Given the description of an element on the screen output the (x, y) to click on. 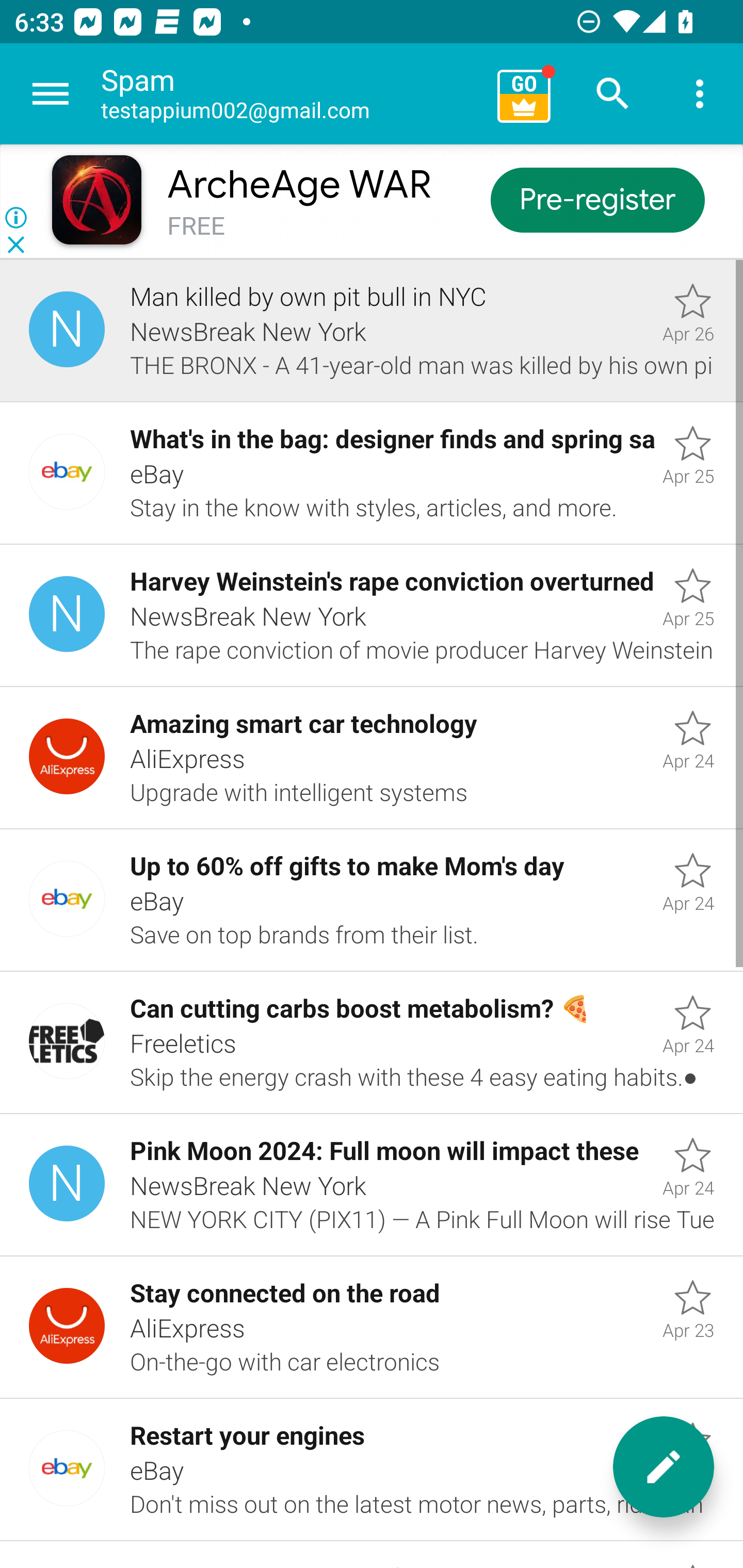
Navigate up (50, 93)
Spam testappium002@gmail.com (291, 93)
Search (612, 93)
More options (699, 93)
New message (663, 1466)
